Given the description of an element on the screen output the (x, y) to click on. 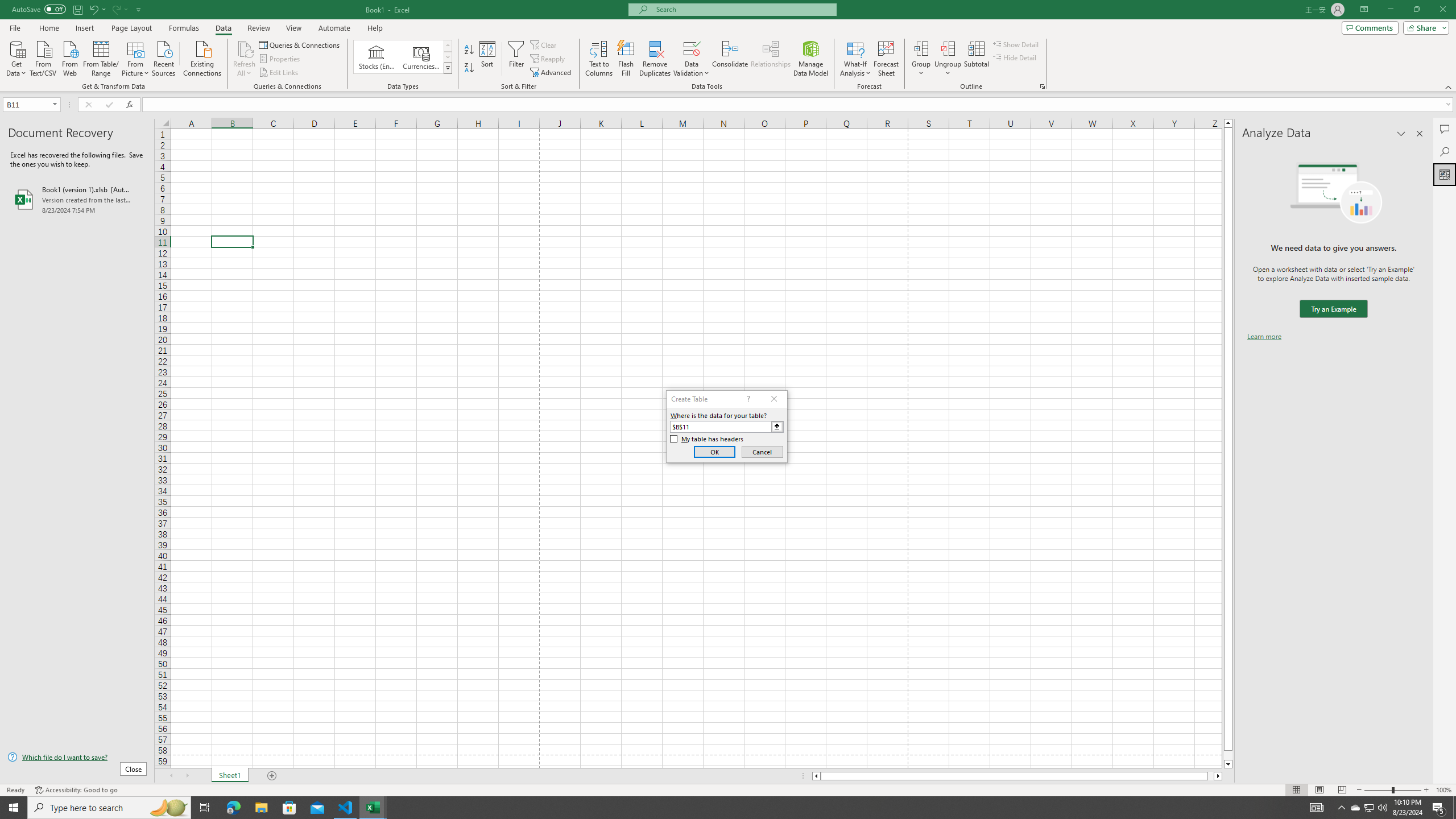
Forecast Sheet (885, 58)
Redo (115, 9)
System (6, 6)
Group and Outline Settings (1042, 85)
Edit Links (279, 72)
View (293, 28)
Scroll Right (187, 775)
Row Down (448, 56)
Analyze Data (1444, 173)
Line up (1228, 122)
Relationships (770, 58)
Sheet1 (229, 775)
Column left (815, 775)
Page Layout (1318, 790)
